Given the description of an element on the screen output the (x, y) to click on. 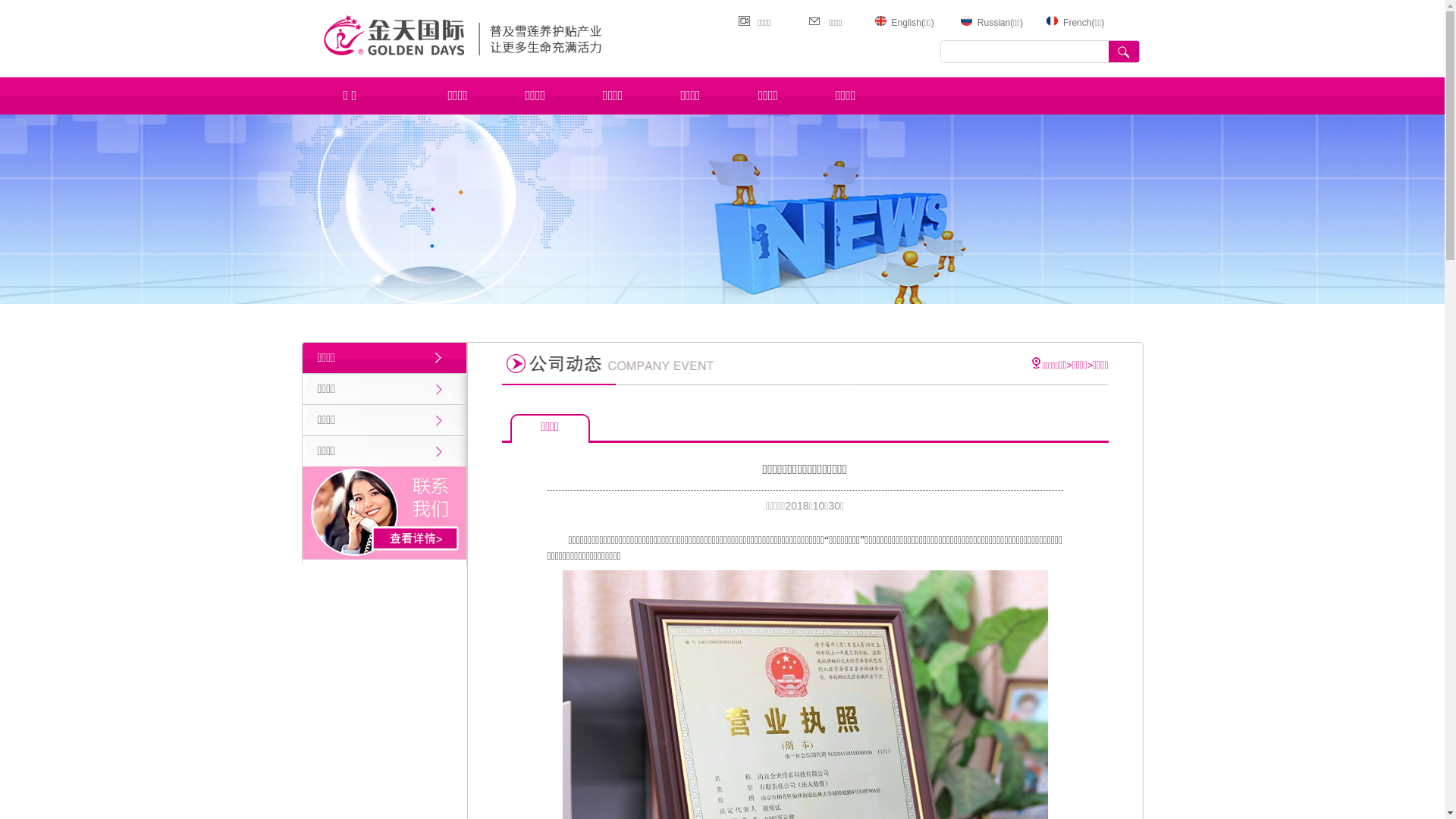
  Element type: text (1123, 51)
